Given the description of an element on the screen output the (x, y) to click on. 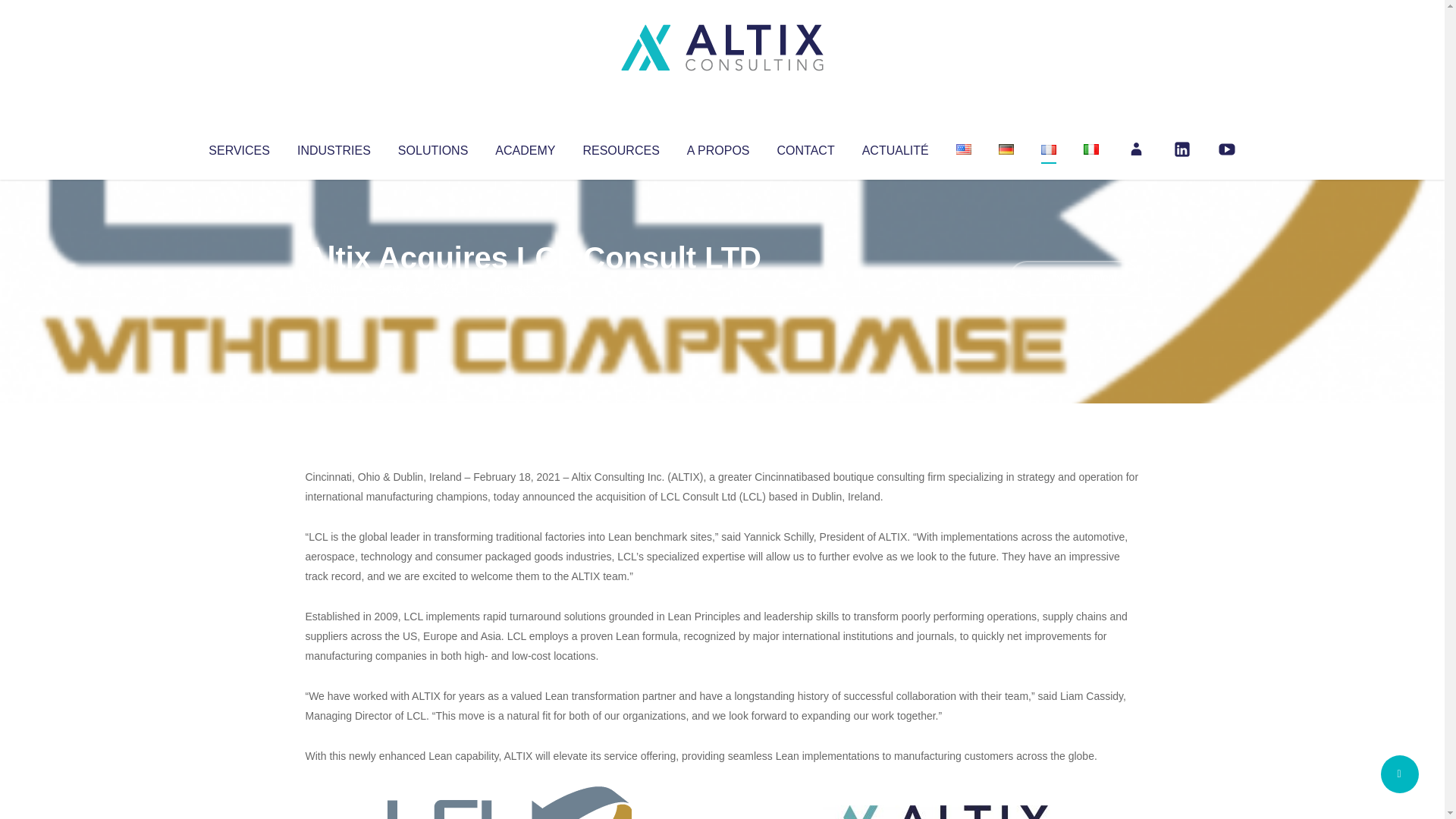
Articles par Altix (333, 287)
SERVICES (238, 146)
Uncategorized (530, 287)
INDUSTRIES (334, 146)
SOLUTIONS (432, 146)
A PROPOS (718, 146)
ACADEMY (524, 146)
RESOURCES (620, 146)
No Comments (1073, 278)
Altix (333, 287)
